Given the description of an element on the screen output the (x, y) to click on. 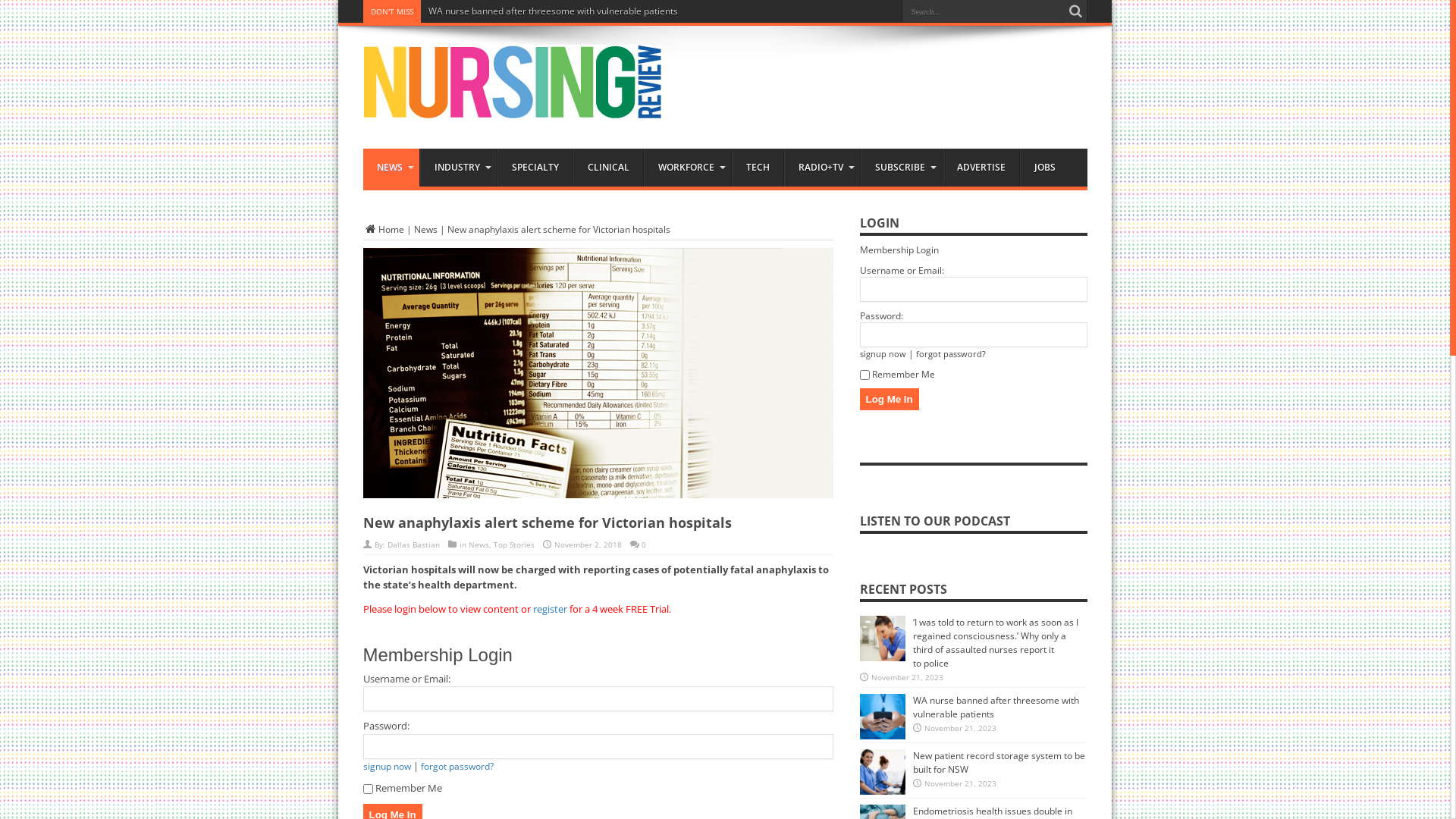
SUBSCRIBE Element type: text (900, 167)
SPECIALTY Element type: text (534, 167)
forgot password? Element type: text (950, 353)
TECH Element type: text (756, 167)
register Element type: text (549, 608)
INDUSTRY Element type: text (458, 167)
Password Element type: hover (597, 746)
CLINICAL Element type: text (608, 167)
signup now Element type: text (882, 353)
0 Element type: text (643, 544)
WORKFORCE Element type: text (686, 167)
RADIO+TV Element type: text (821, 167)
signup now Element type: text (386, 765)
News Element type: text (425, 228)
Home Element type: text (382, 228)
WA nurse banned after threesome with vulnerable patients Element type: text (552, 11)
Password Element type: hover (973, 334)
ADVERTISE Element type: text (979, 167)
Dallas Bastian Element type: text (412, 544)
Username Element type: hover (597, 698)
JOBS Element type: text (1043, 167)
Log Me In Element type: text (889, 399)
WA nurse banned after threesome with vulnerable patients Element type: text (996, 706)
New patient record storage system to be built for NSW Element type: text (999, 762)
Search Element type: text (1075, 11)
Top Stories Element type: text (512, 544)
NEWS Element type: text (390, 167)
Username Element type: hover (973, 288)
forgot password? Element type: text (456, 765)
News Element type: text (478, 544)
Nursing Review Element type: hover (511, 107)
